Given the description of an element on the screen output the (x, y) to click on. 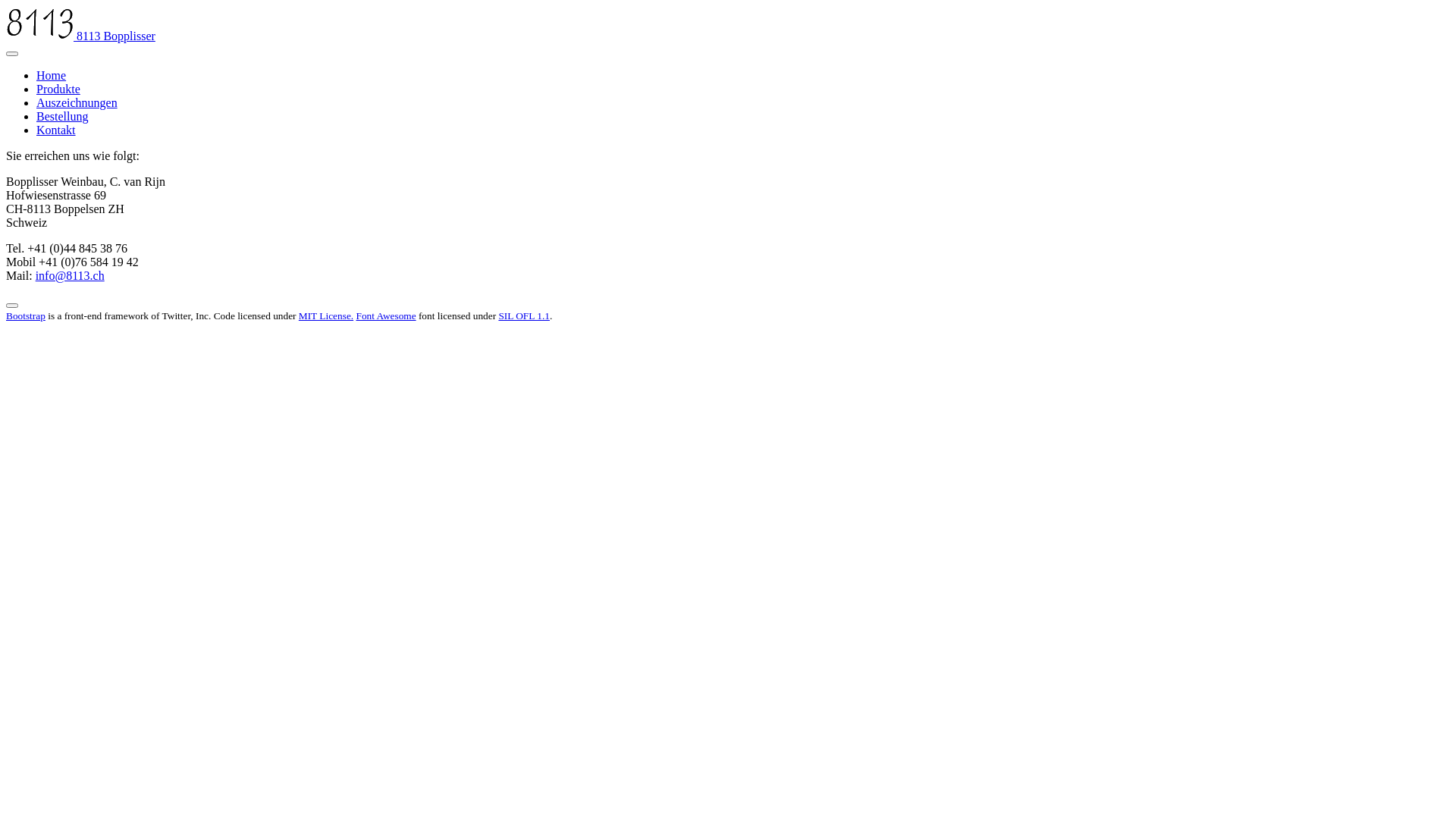
Kontakt Element type: text (55, 129)
Home Element type: text (50, 75)
8113 Bopplisser Element type: text (80, 35)
Bestellung Element type: text (61, 115)
info@8113.ch Element type: text (69, 275)
Auszeichnungen Element type: text (76, 102)
Back to Top Element type: hover (12, 305)
Bootstrap Element type: text (25, 315)
Produkte Element type: text (58, 88)
SIL OFL 1.1 Element type: text (523, 315)
MIT License. Element type: text (325, 315)
Font Awesome Element type: text (385, 315)
